Given the description of an element on the screen output the (x, y) to click on. 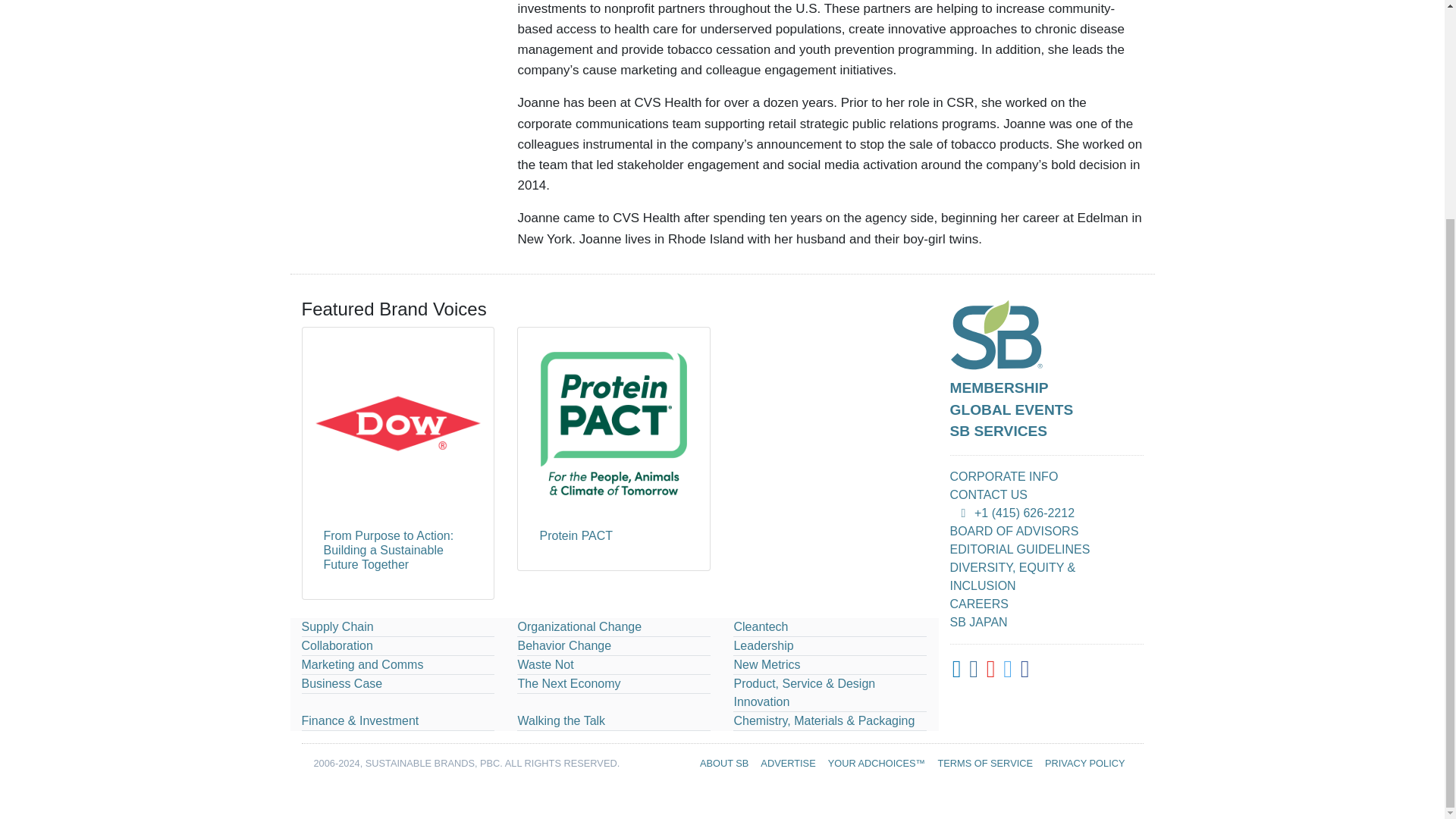
Collaboration (336, 645)
Cleantech (760, 626)
Organizational Change (579, 626)
Telephone (963, 512)
Supply Chain (337, 626)
